Given the description of an element on the screen output the (x, y) to click on. 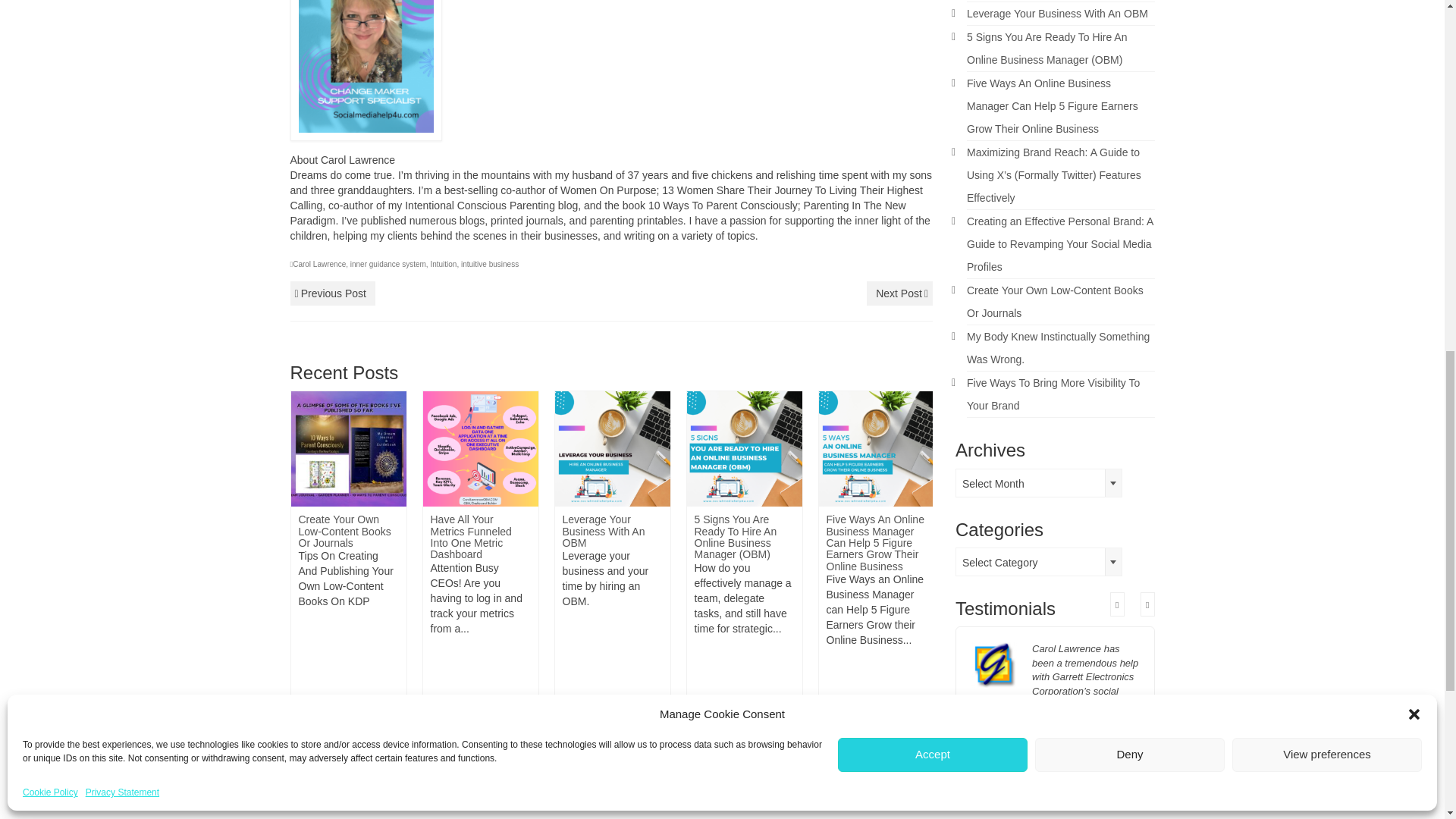
View preferences (1326, 345)
Cookie Policy (50, 383)
Deny (1129, 345)
Privacy Statement (121, 383)
Accept (932, 345)
